Given the description of an element on the screen output the (x, y) to click on. 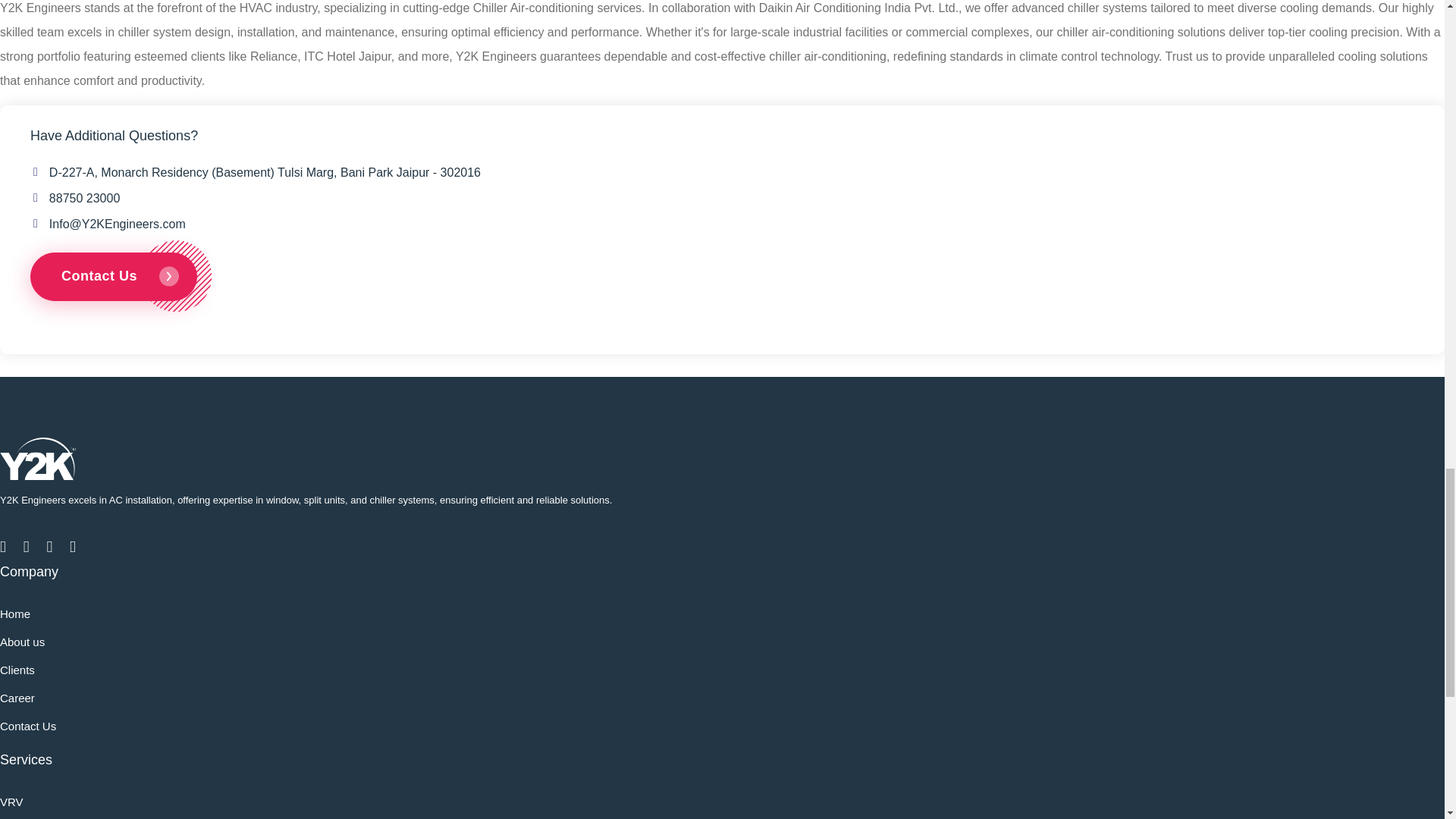
Career (17, 697)
88750 23000 (84, 197)
Contact Us (113, 276)
Clients (17, 669)
VRV (11, 801)
Home (15, 613)
About us (22, 641)
Contact Us (28, 725)
